Given the description of an element on the screen output the (x, y) to click on. 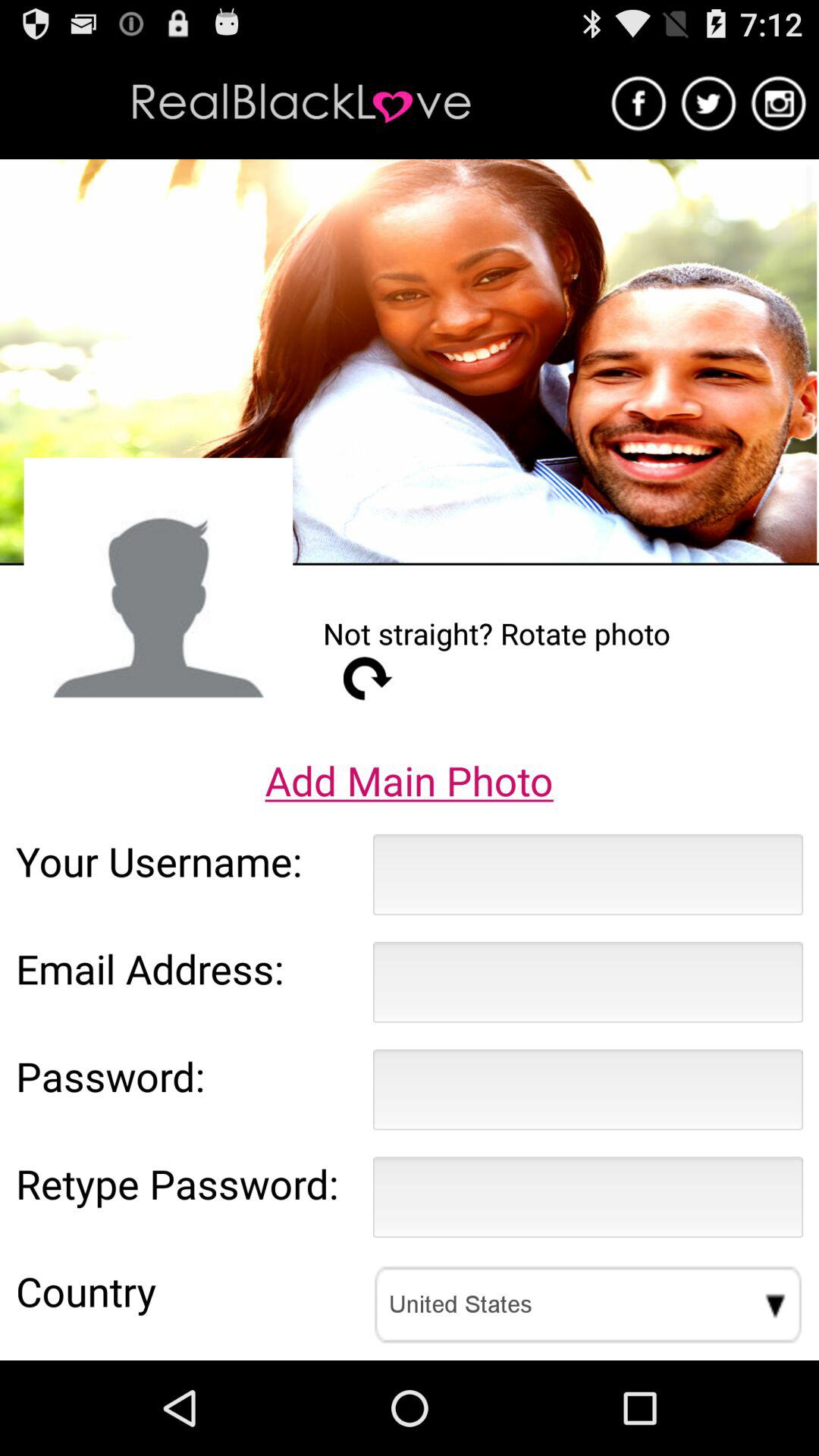
open the icon to the left of not straight rotate app (157, 591)
